Given the description of an element on the screen output the (x, y) to click on. 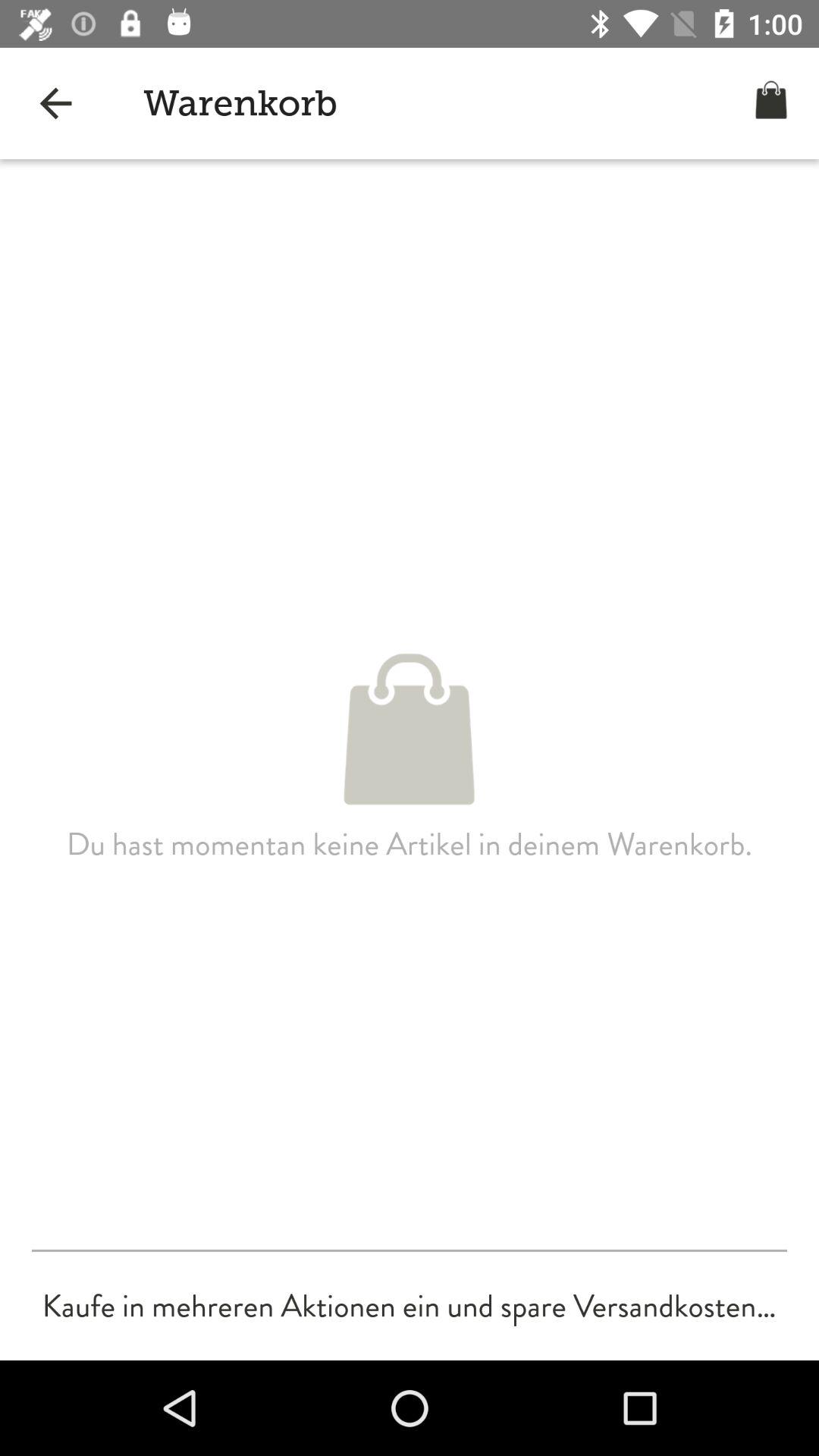
choose kaufe in mehreren icon (409, 1305)
